Given the description of an element on the screen output the (x, y) to click on. 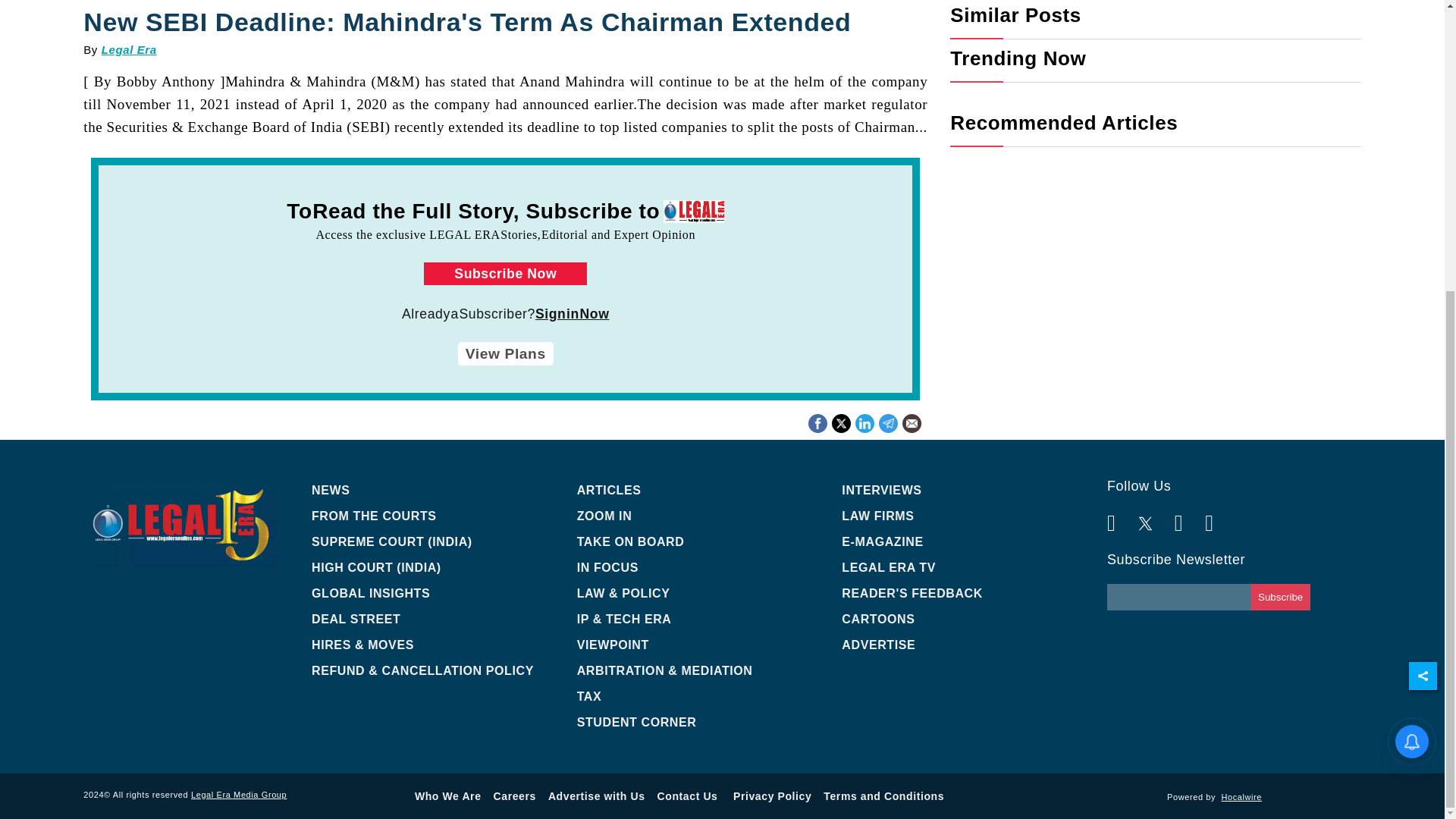
Facebook (817, 421)
Subscribe (1280, 596)
twitter (841, 422)
facebook (818, 422)
linkedin (1155, 95)
Twitter (864, 422)
LinkedIn (840, 421)
